Given the description of an element on the screen output the (x, y) to click on. 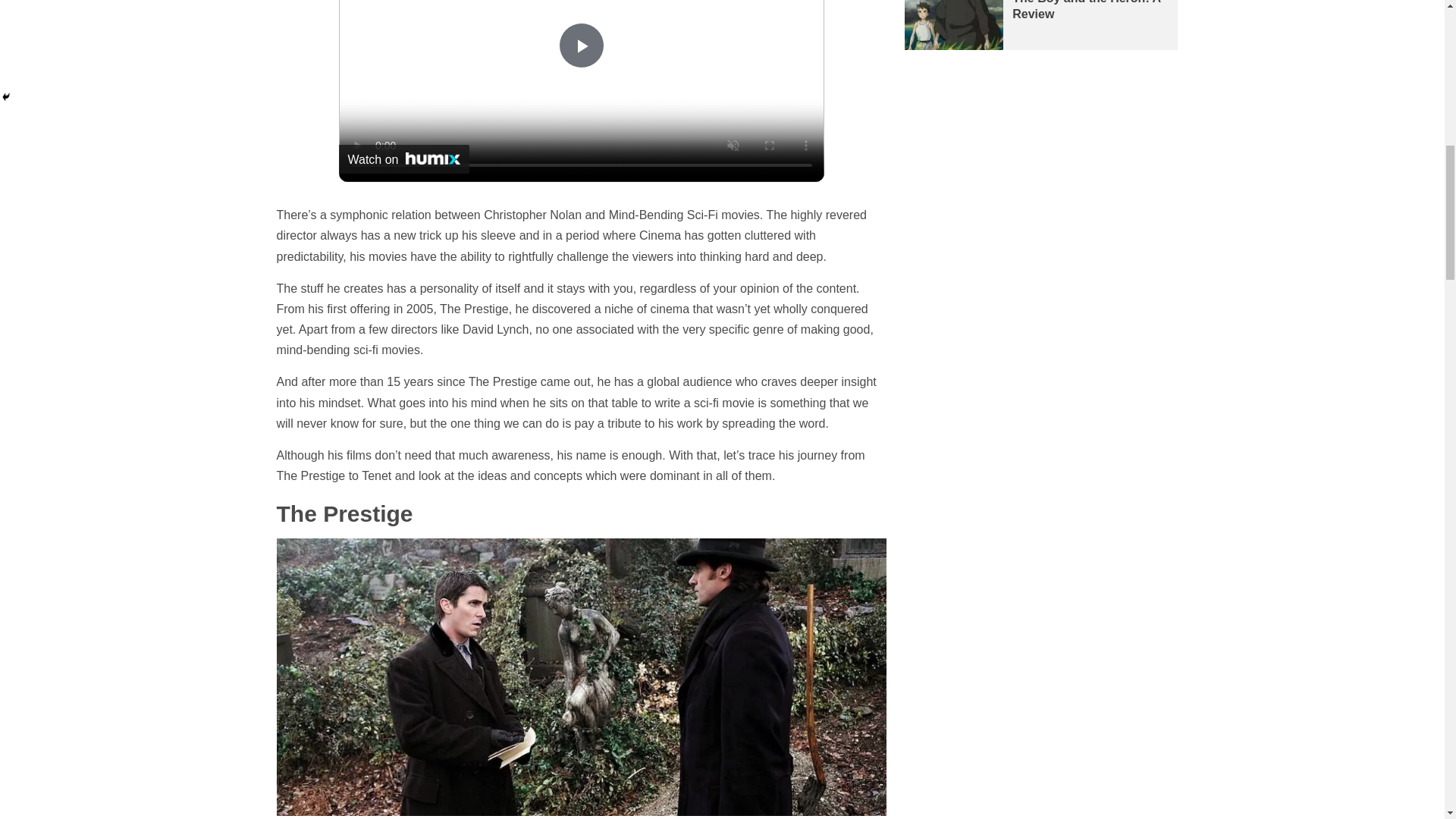
Play Video (580, 44)
Play Video (580, 44)
